Given the description of an element on the screen output the (x, y) to click on. 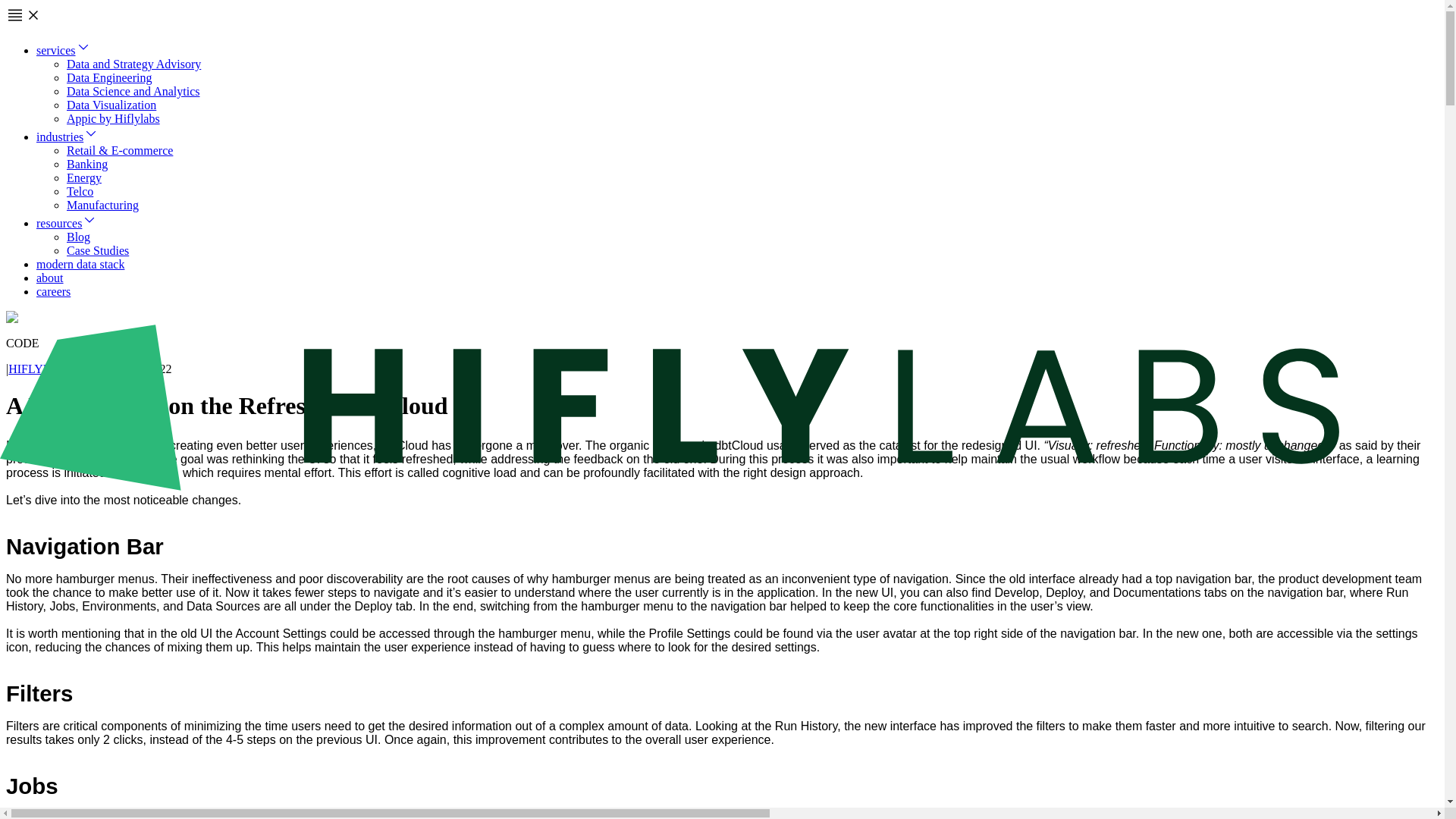
Data and Strategy Advisory (133, 63)
about (50, 277)
Blog (78, 236)
careers (52, 291)
Data Engineering (108, 77)
Appic by Hiflylabs (113, 118)
services (63, 50)
resources (66, 223)
modern data stack (79, 264)
Data Visualization (110, 104)
Banking (86, 164)
Energy (83, 177)
Telco (79, 191)
Data Science and Analytics (133, 91)
HIFLYLABS (41, 368)
